Given the description of an element on the screen output the (x, y) to click on. 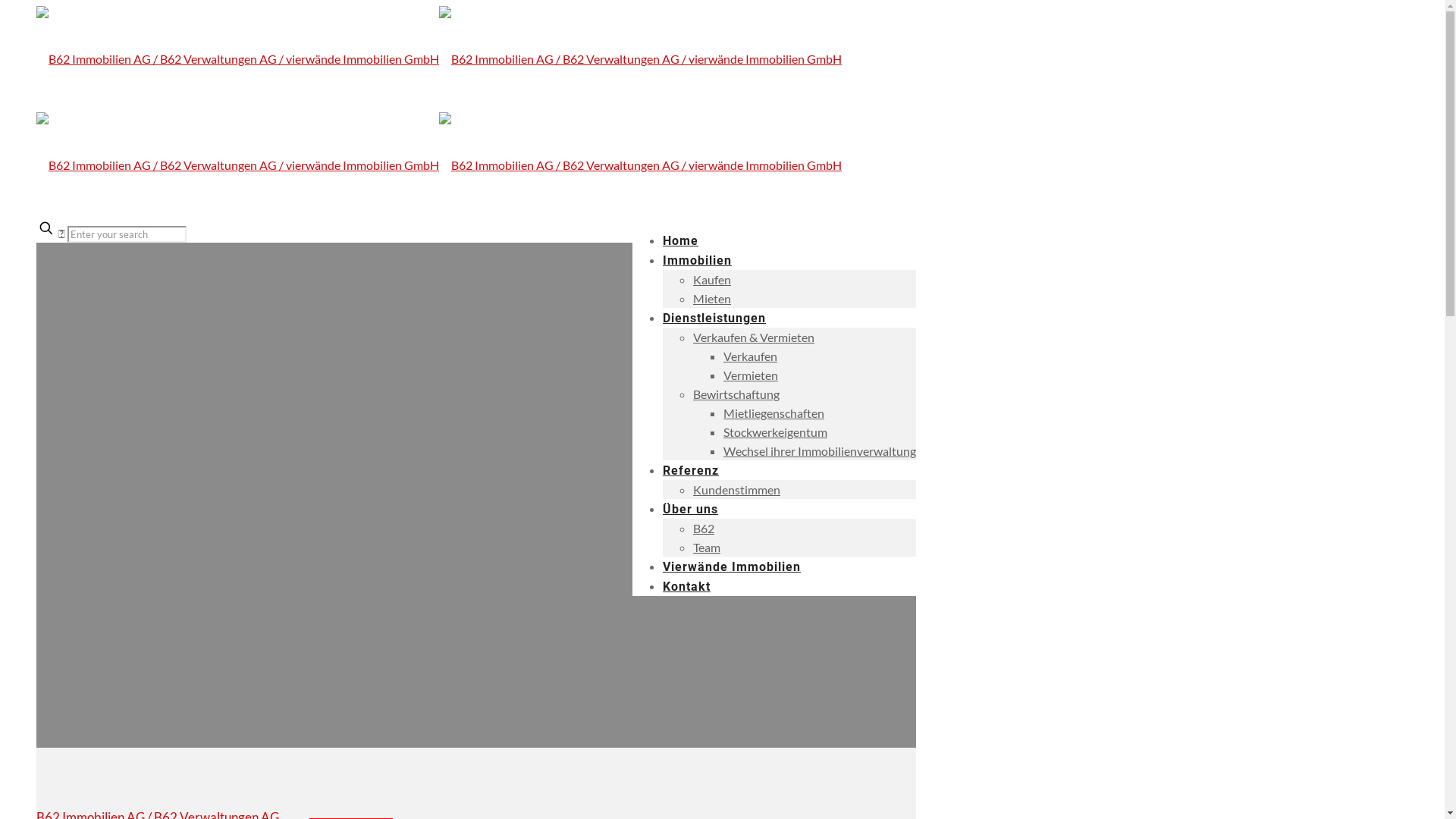
Immobilien Element type: text (696, 260)
B62 Element type: text (703, 527)
Kaufen Element type: text (712, 279)
Wechsel ihrer Immobilienverwaltung Element type: text (819, 450)
Home Element type: text (680, 240)
Bewirtschaftung Element type: text (736, 393)
Kontakt Element type: text (686, 586)
Stockwerkeigentum Element type: text (775, 431)
Kundenstimmen Element type: text (736, 489)
Verkaufen & Vermieten Element type: text (753, 336)
B62 Immobilien AG / B62 Verwaltungen AG Element type: hover (438, 111)
Mietliegenschaften Element type: text (773, 412)
Team Element type: text (706, 546)
Vermieten Element type: text (750, 374)
Mieten Element type: text (712, 298)
Dienstleistungen Element type: text (713, 317)
Referenz Element type: text (690, 470)
Verkaufen Element type: text (750, 355)
